Given the description of an element on the screen output the (x, y) to click on. 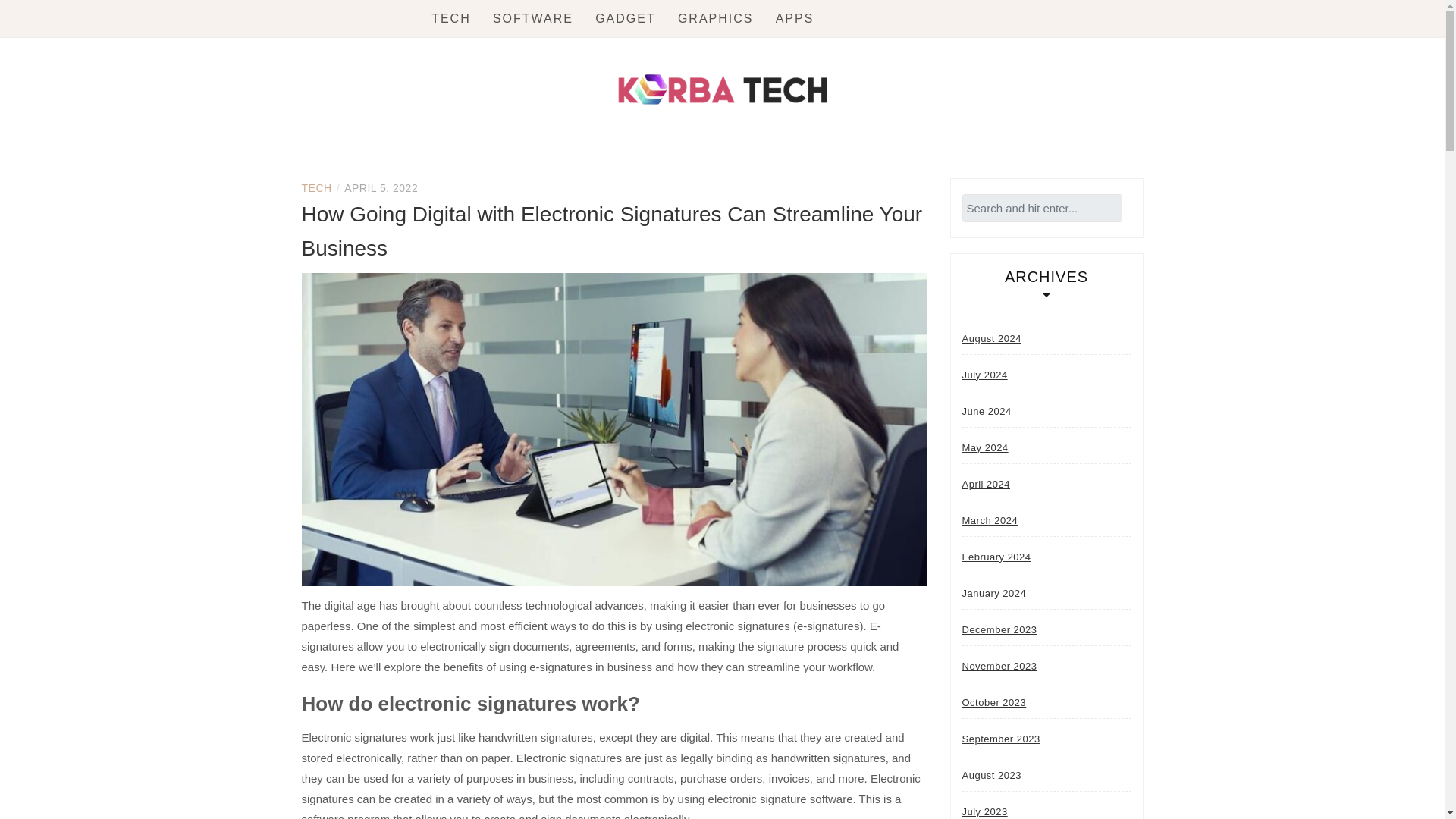
KORBA TECH (472, 164)
APPS (794, 18)
February 2024 (995, 556)
GADGET (625, 18)
July 2024 (983, 374)
November 2023 (998, 665)
December 2023 (998, 629)
April 2024 (985, 483)
SOFTWARE (533, 18)
May 2024 (983, 447)
